Given the description of an element on the screen output the (x, y) to click on. 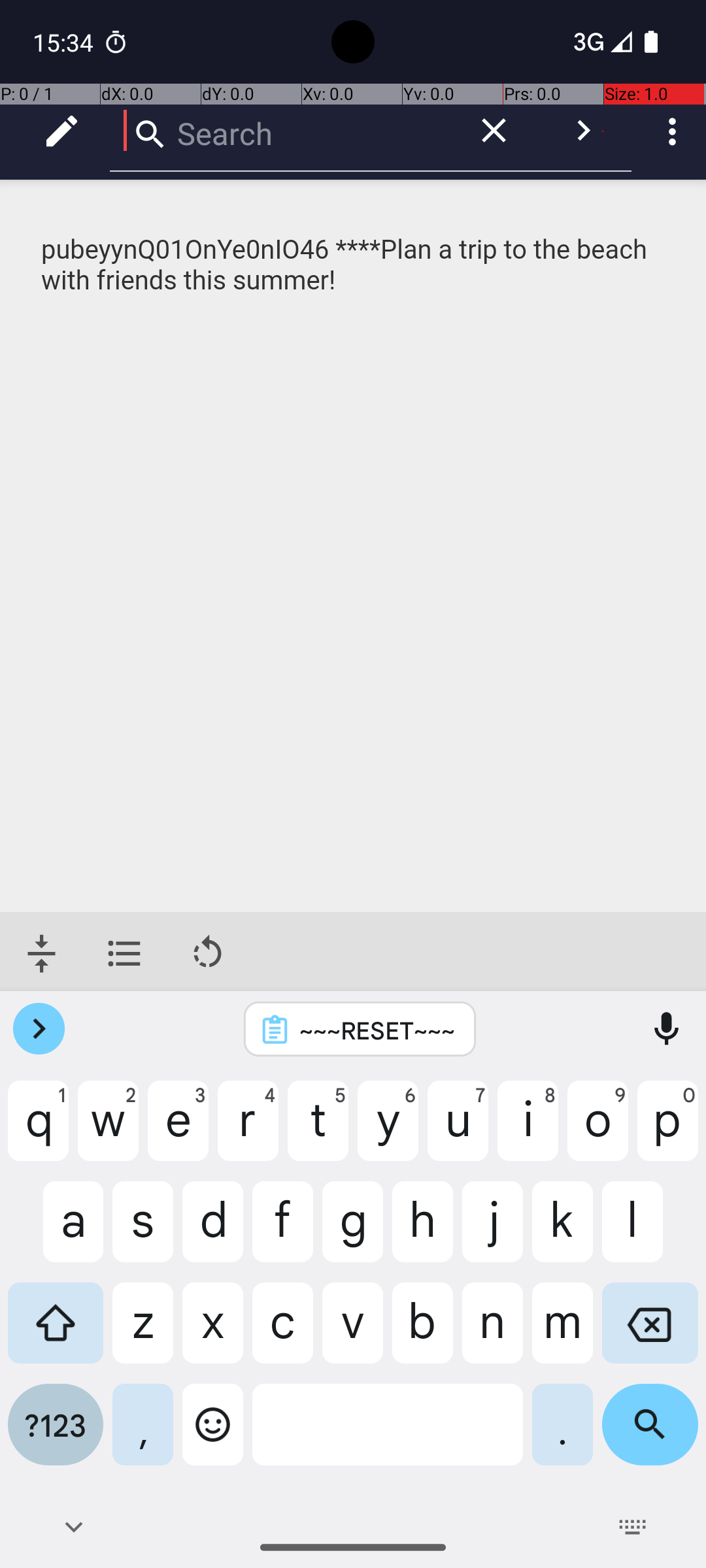
   Search Element type: android.widget.AutoCompleteTextView (280, 130)
Submit query Element type: android.widget.ImageView (583, 130)
pubeyynQ01OnYe0nIO46 ****Plan a trip to the beach with friends this summer! Element type: android.widget.TextView (354, 264)
